Given the description of an element on the screen output the (x, y) to click on. 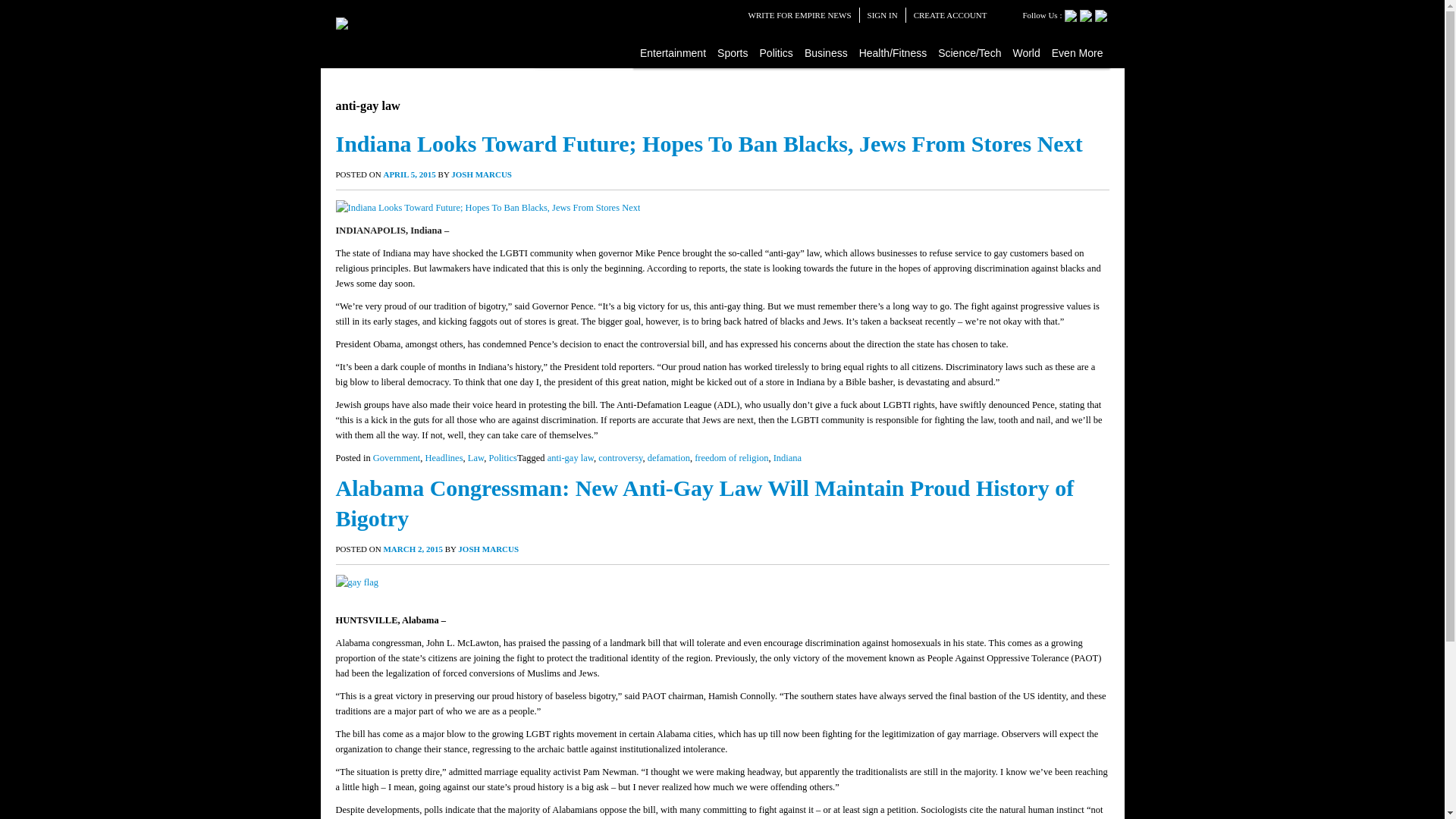
WRITE FOR EMPIRE NEWS (799, 14)
Politics (776, 52)
Sports (732, 52)
CREATE ACCOUNT (950, 14)
World (1026, 52)
Entertainment (672, 52)
Business (826, 52)
SIGN IN (882, 14)
